Given the description of an element on the screen output the (x, y) to click on. 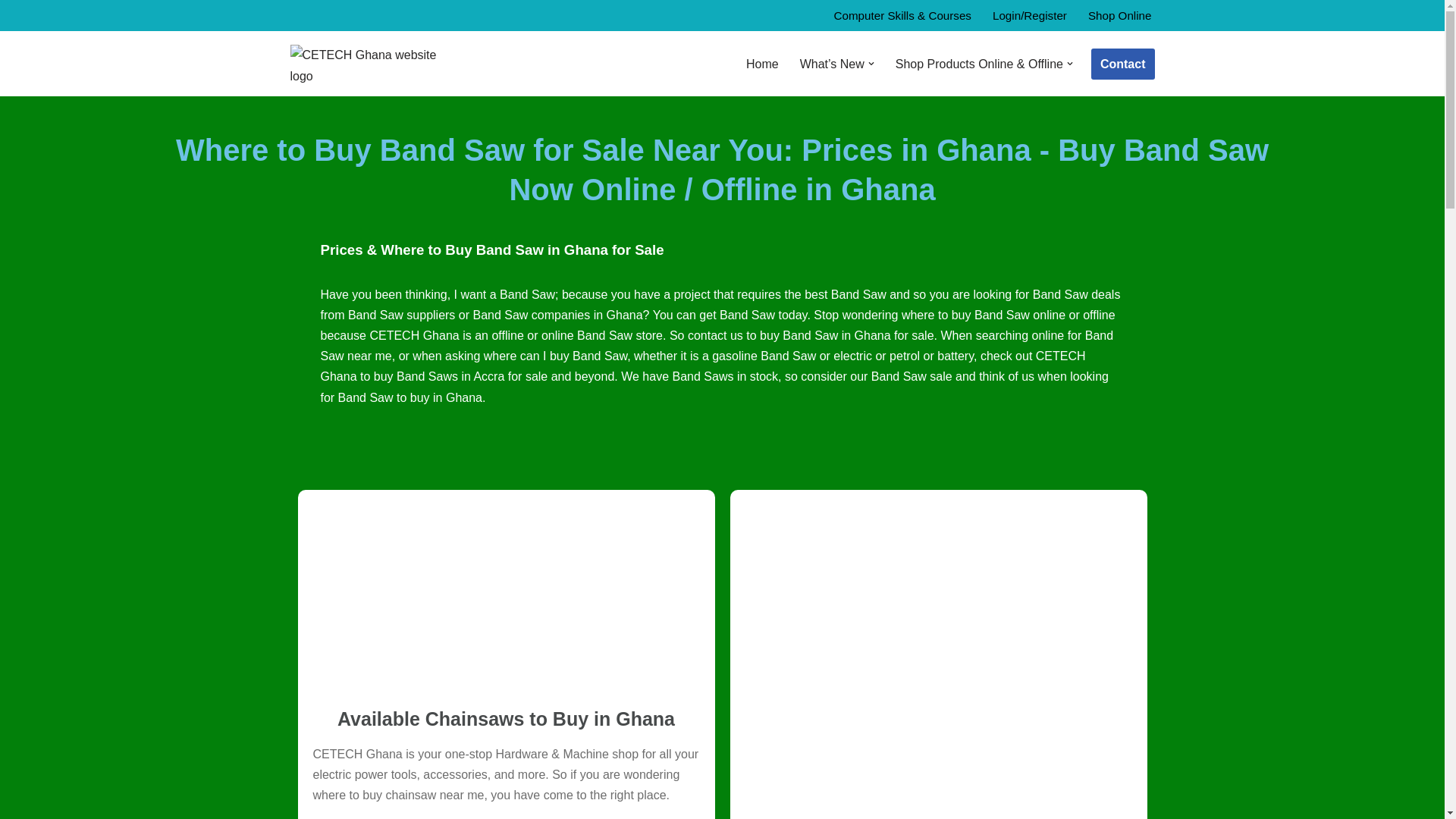
Skip to content (11, 31)
Contact (1122, 64)
Home (761, 64)
Shop Online (1119, 15)
